Given the description of an element on the screen output the (x, y) to click on. 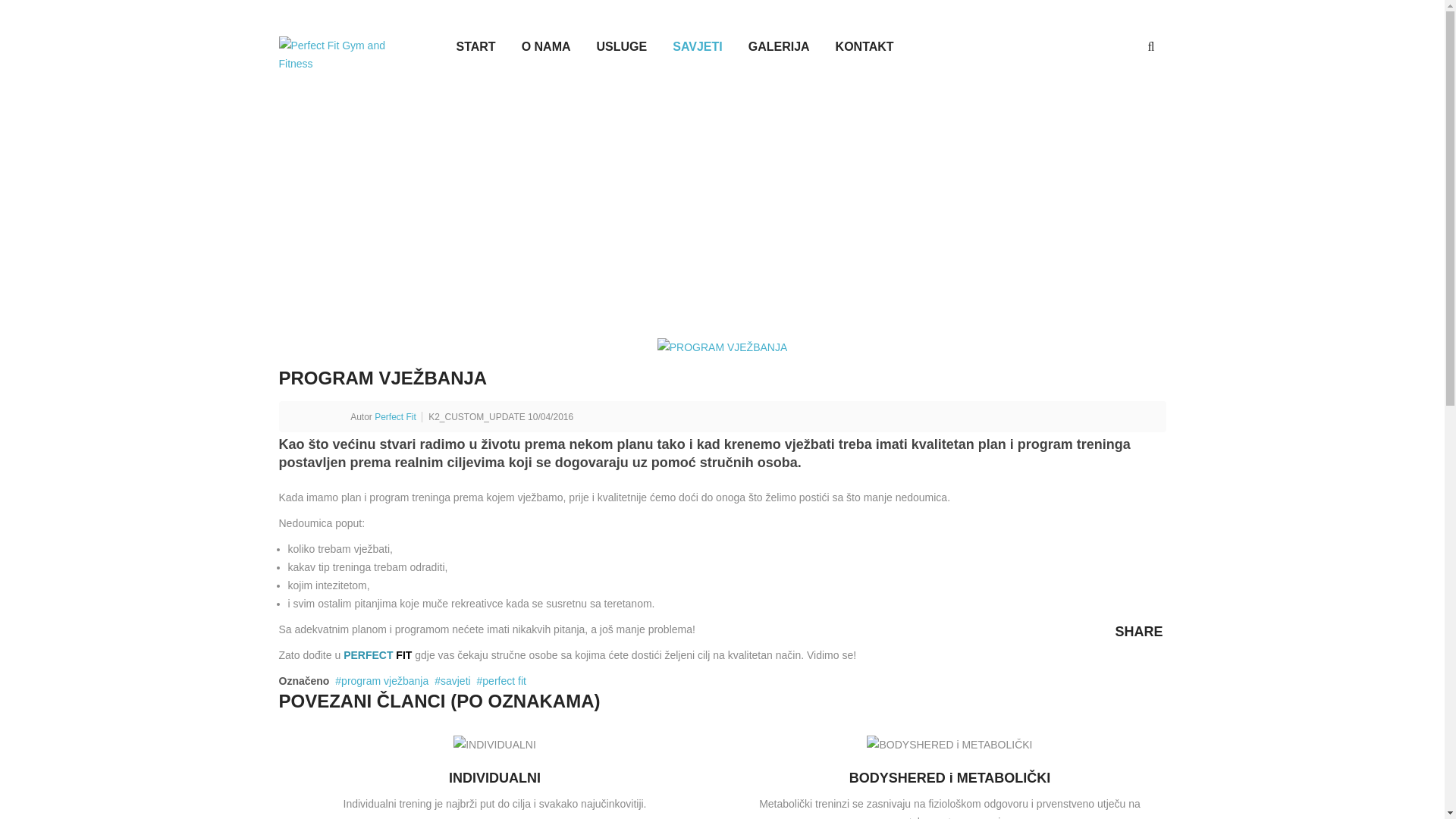
Perfect Fit Gym and Fitness Element type: hover (343, 54)
GALERIJA Element type: text (765, 46)
HOME Element type: text (963, 203)
O NAMA Element type: text (533, 46)
USLUGE Element type: text (609, 46)
perfect fit Element type: text (501, 680)
INDIVIDUALNI Element type: text (495, 777)
Klikni za pregled fotografije Element type: hover (722, 346)
SAVJETI Element type: text (684, 46)
Perfect Fit Element type: text (395, 416)
savjeti Element type: text (452, 680)
KONTAKT Element type: text (851, 46)
SAVJETI Element type: text (1010, 203)
START Element type: text (462, 46)
